Given the description of an element on the screen output the (x, y) to click on. 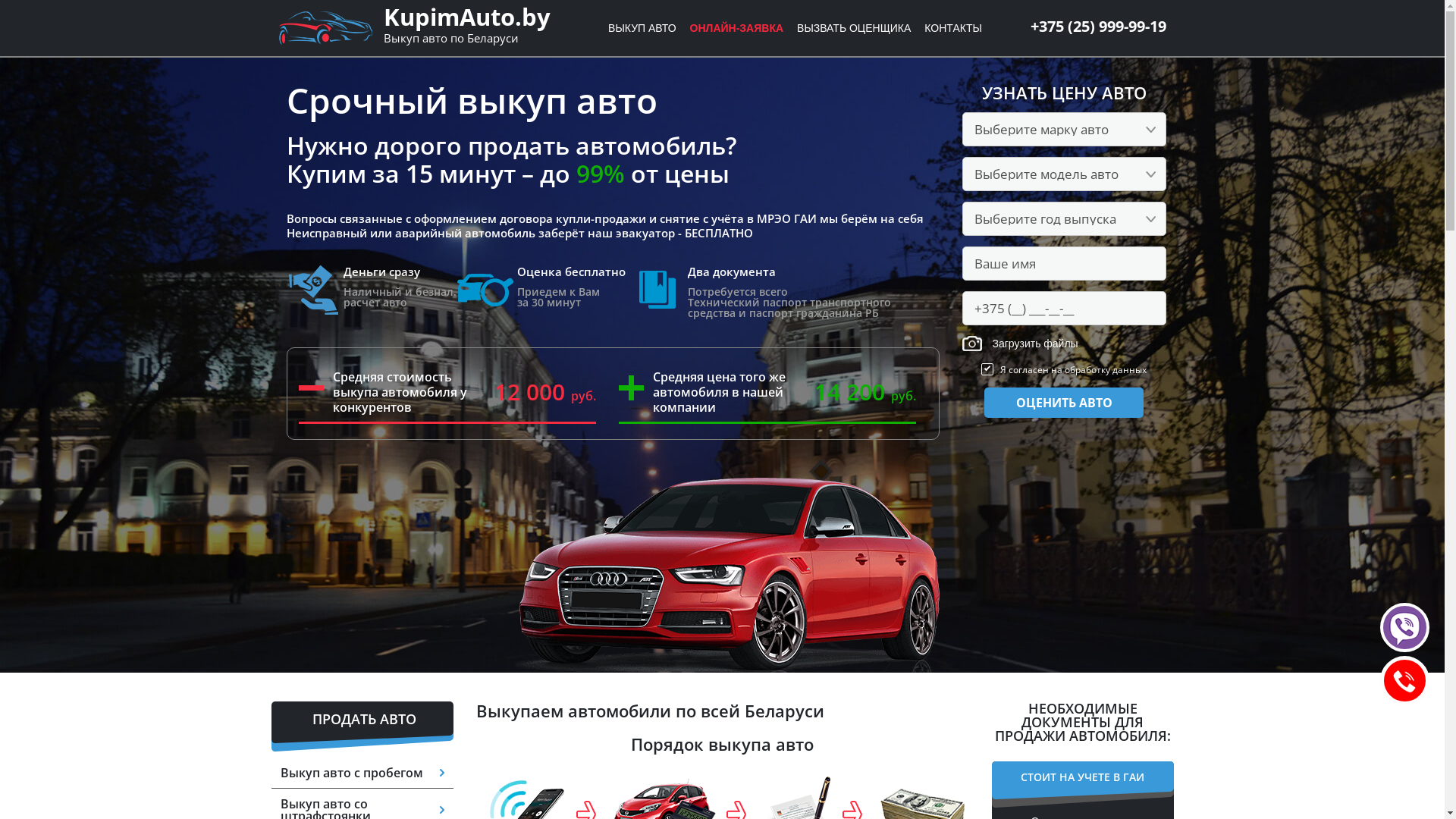
+375 (25) 999-99-19 Element type: text (1097, 25)
Viber Element type: hover (1404, 627)
kupimauto Element type: hover (722, 571)
